Given the description of an element on the screen output the (x, y) to click on. 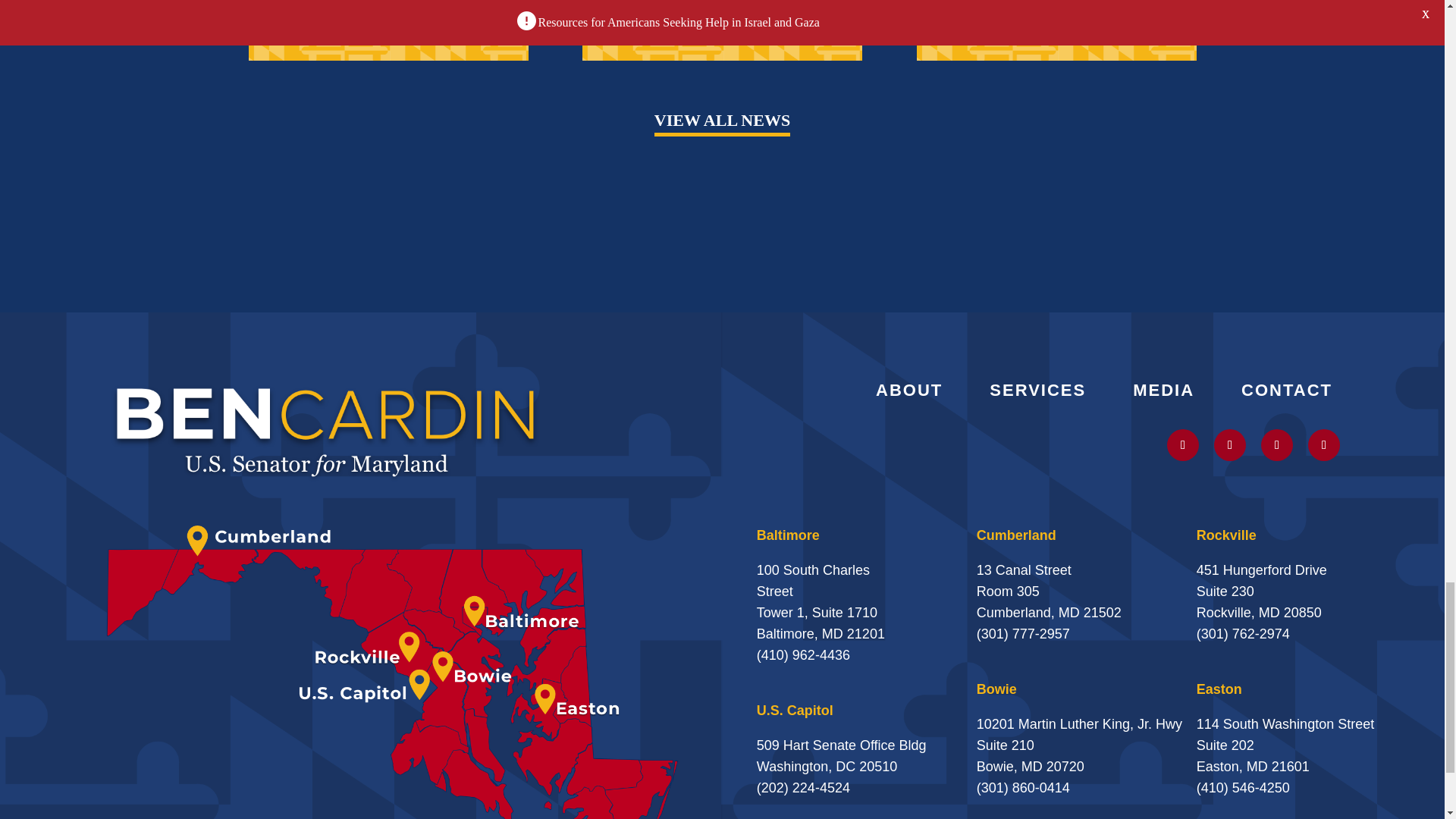
Follow on X (1182, 445)
Follow on Youtube (1276, 445)
Follow on Facebook (1323, 445)
Footer (326, 429)
Follow on Instagram (1230, 445)
